Given the description of an element on the screen output the (x, y) to click on. 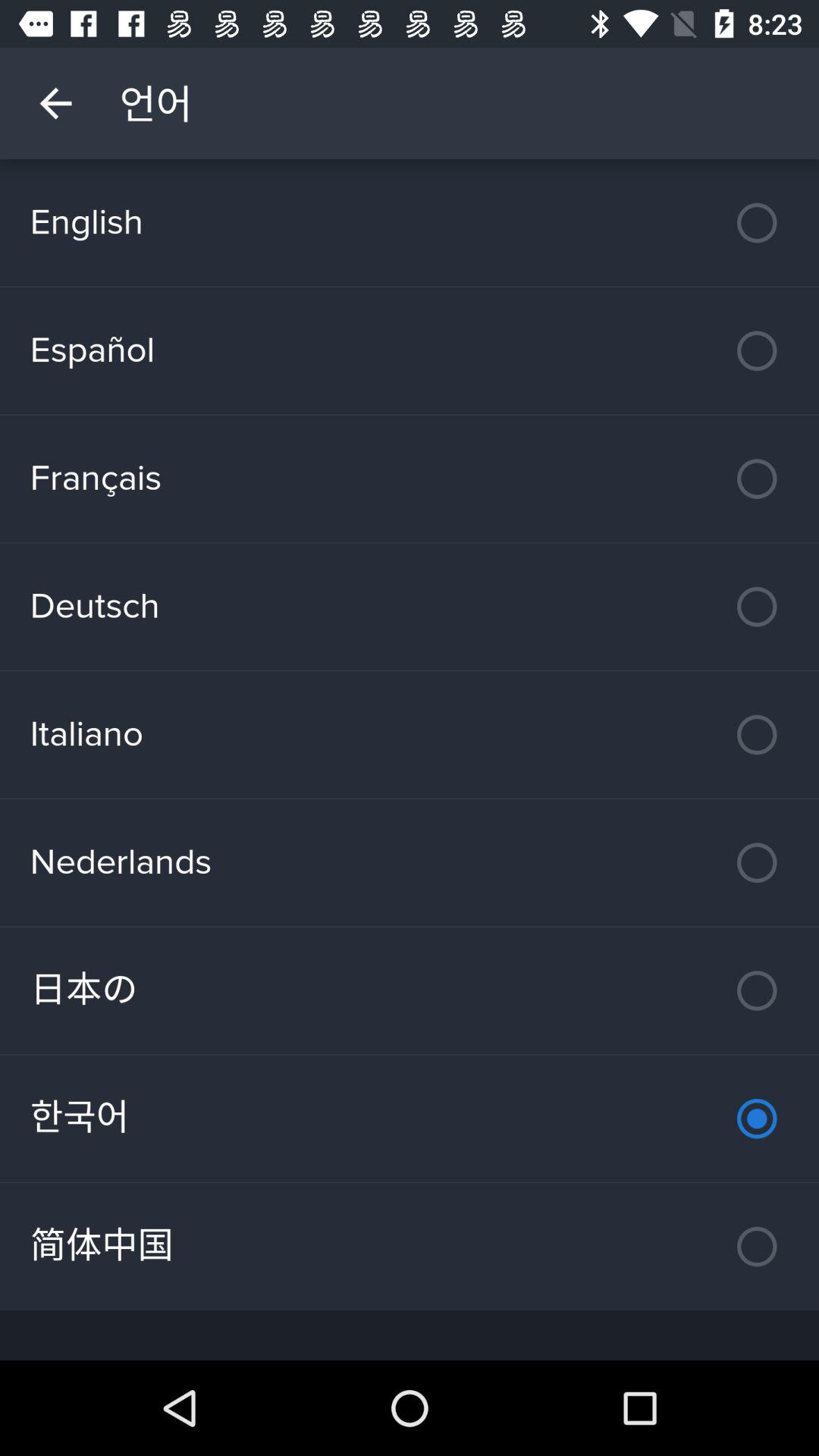
open the english (409, 222)
